Given the description of an element on the screen output the (x, y) to click on. 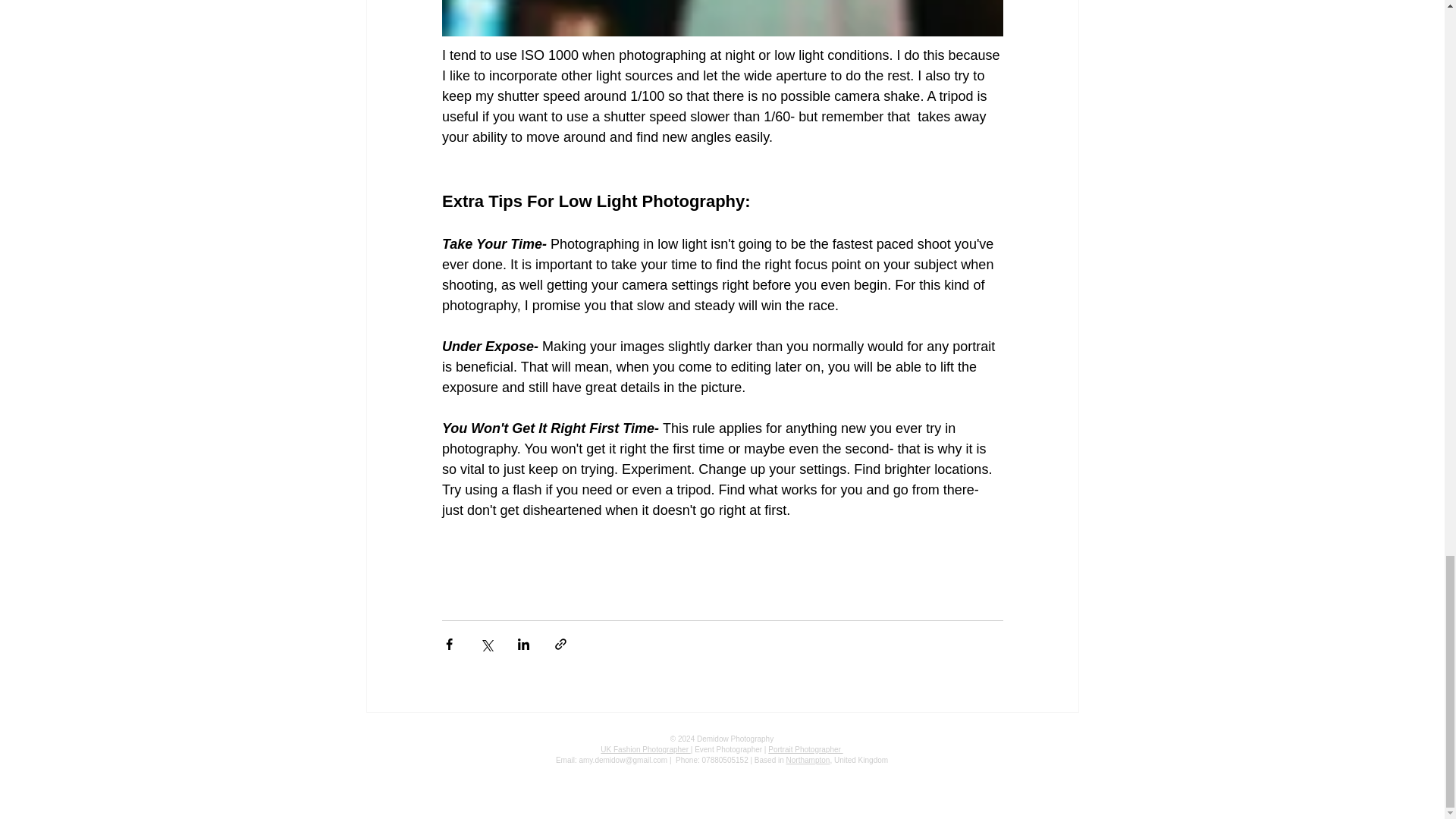
Event Photographer (727, 749)
Northampton (807, 759)
UK Fashion Photographer (644, 749)
Portrait Photographer  (805, 749)
